Given the description of an element on the screen output the (x, y) to click on. 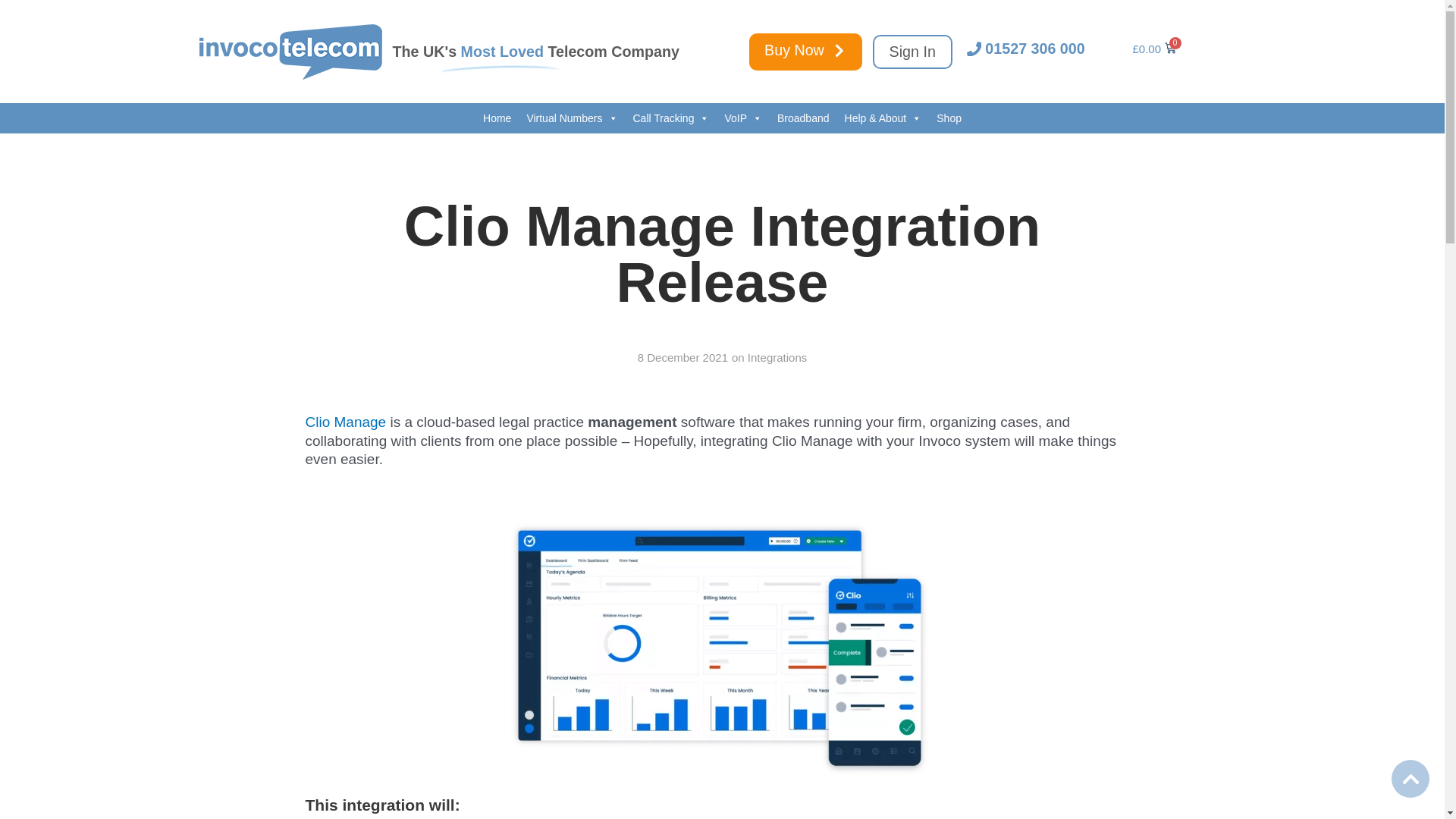
Sign In (912, 52)
Buy Now (805, 51)
01527 306 000 (1025, 49)
